Given the description of an element on the screen output the (x, y) to click on. 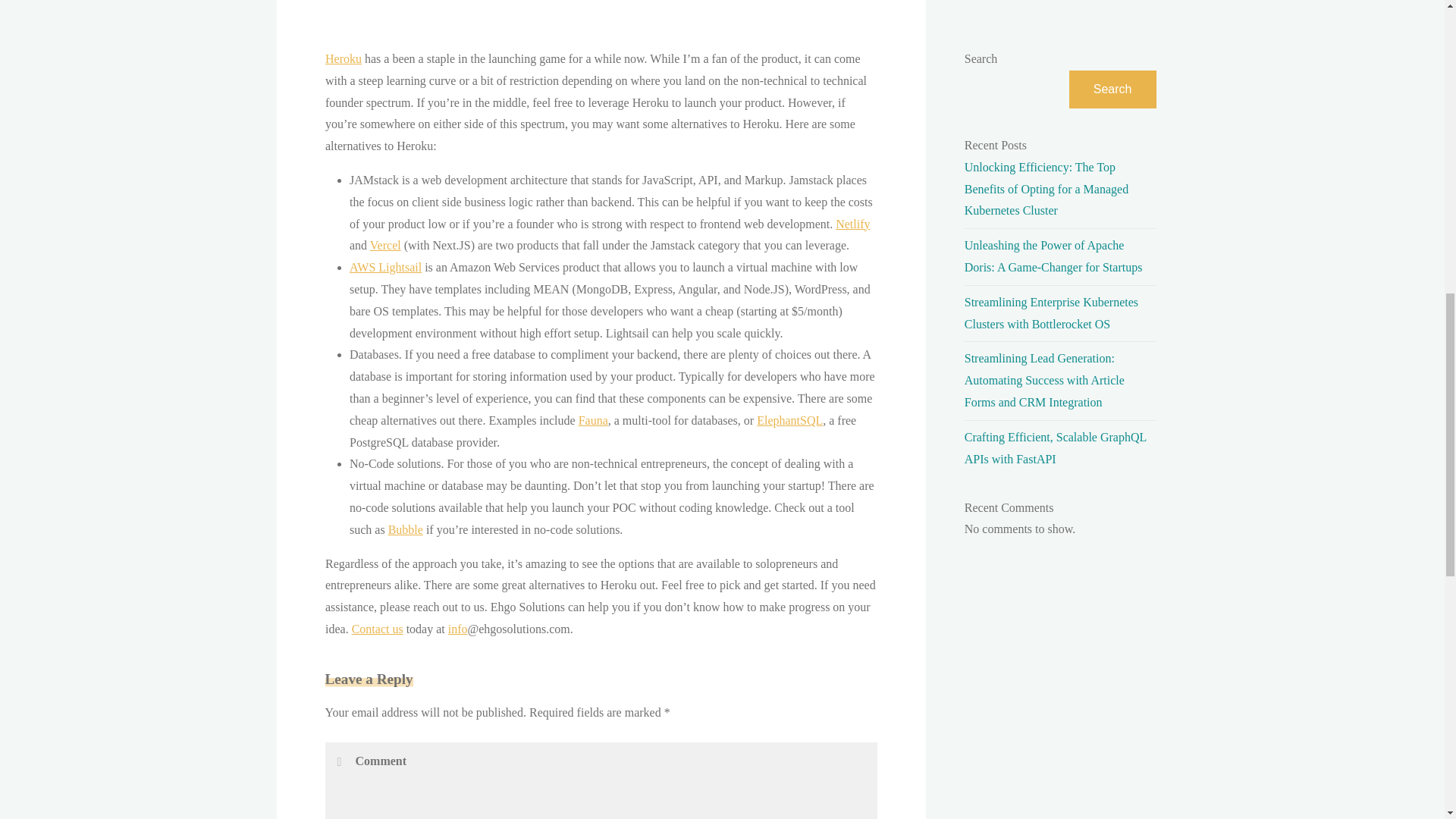
ElephantSQL (789, 420)
Vercel (384, 245)
AWS Lightsail (384, 267)
Crafting Efficient, Scalable GraphQL APIs with FastAPI (1055, 448)
info (456, 628)
Fauna (592, 420)
Contact us (376, 628)
